Given the description of an element on the screen output the (x, y) to click on. 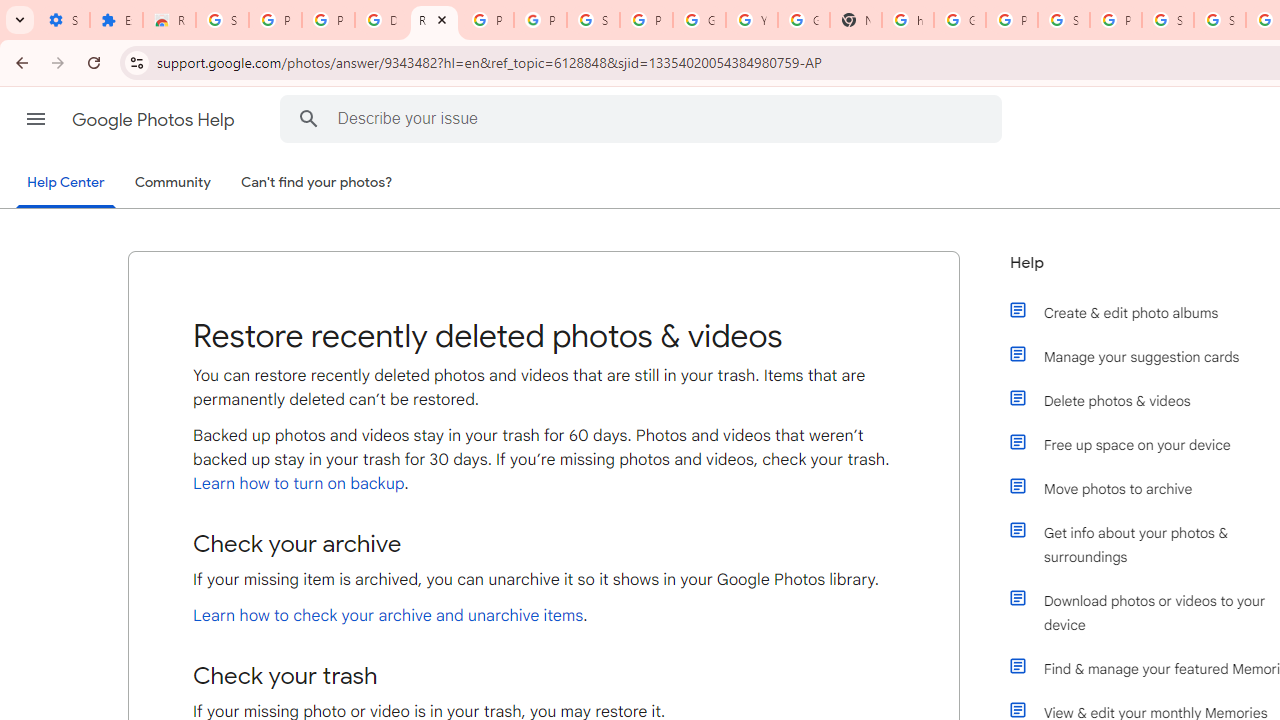
Learn how to check your archive and unarchive items (388, 615)
Search Help Center (309, 118)
Settings - On startup (63, 20)
Delete photos & videos - Computer - Google Photos Help (381, 20)
https://scholar.google.com/ (907, 20)
Sign in - Google Accounts (593, 20)
Can't find your photos? (317, 183)
